Given the description of an element on the screen output the (x, y) to click on. 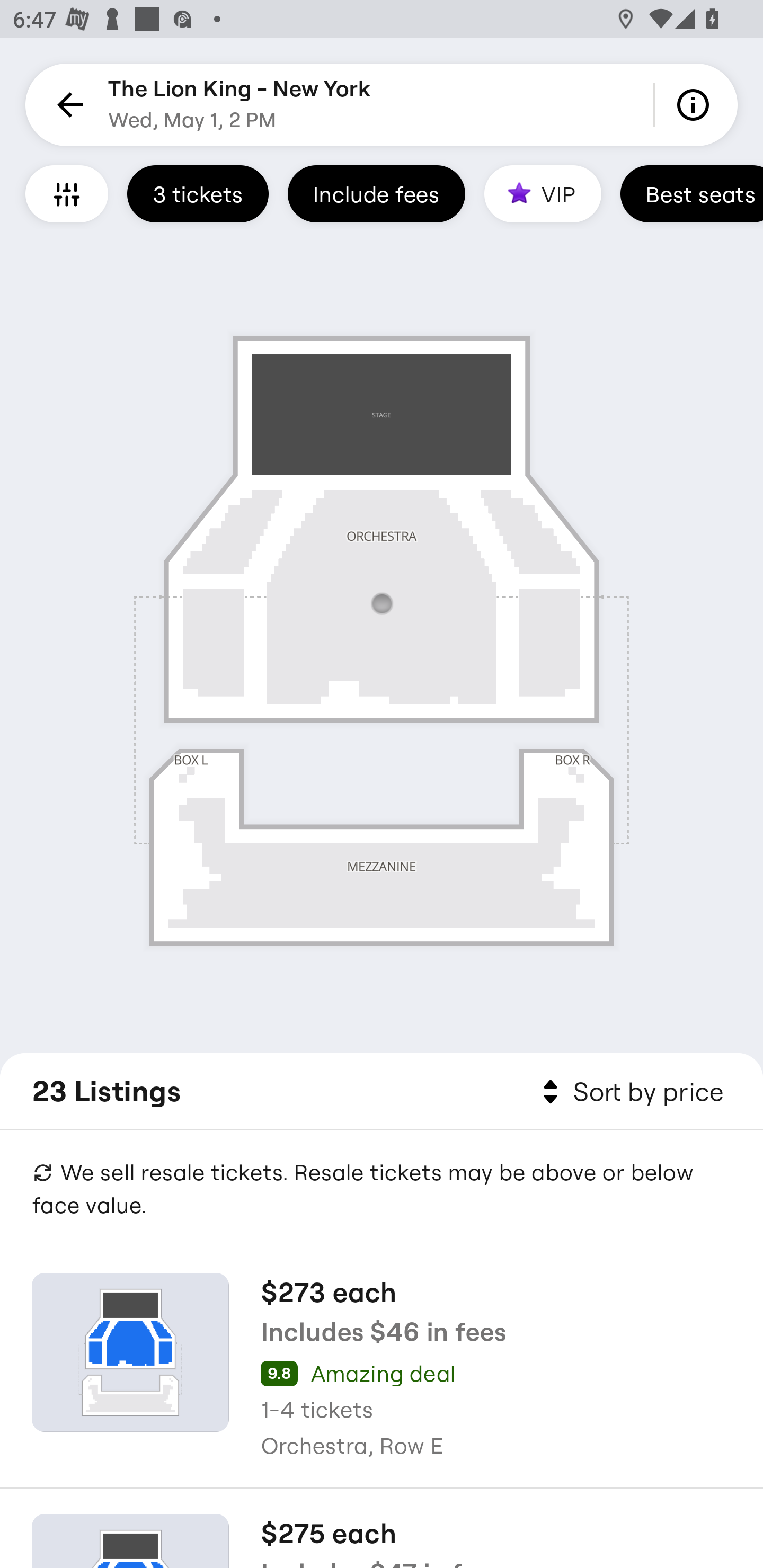
Back (66, 104)
The Lion King - New York Wed, May 1, 2 PM (239, 104)
Info (695, 104)
Filters and Accessible Seating (66, 193)
3 tickets (197, 193)
Include fees (376, 193)
VIP (542, 193)
Best seats (691, 193)
Sort by price (629, 1091)
